Given the description of an element on the screen output the (x, y) to click on. 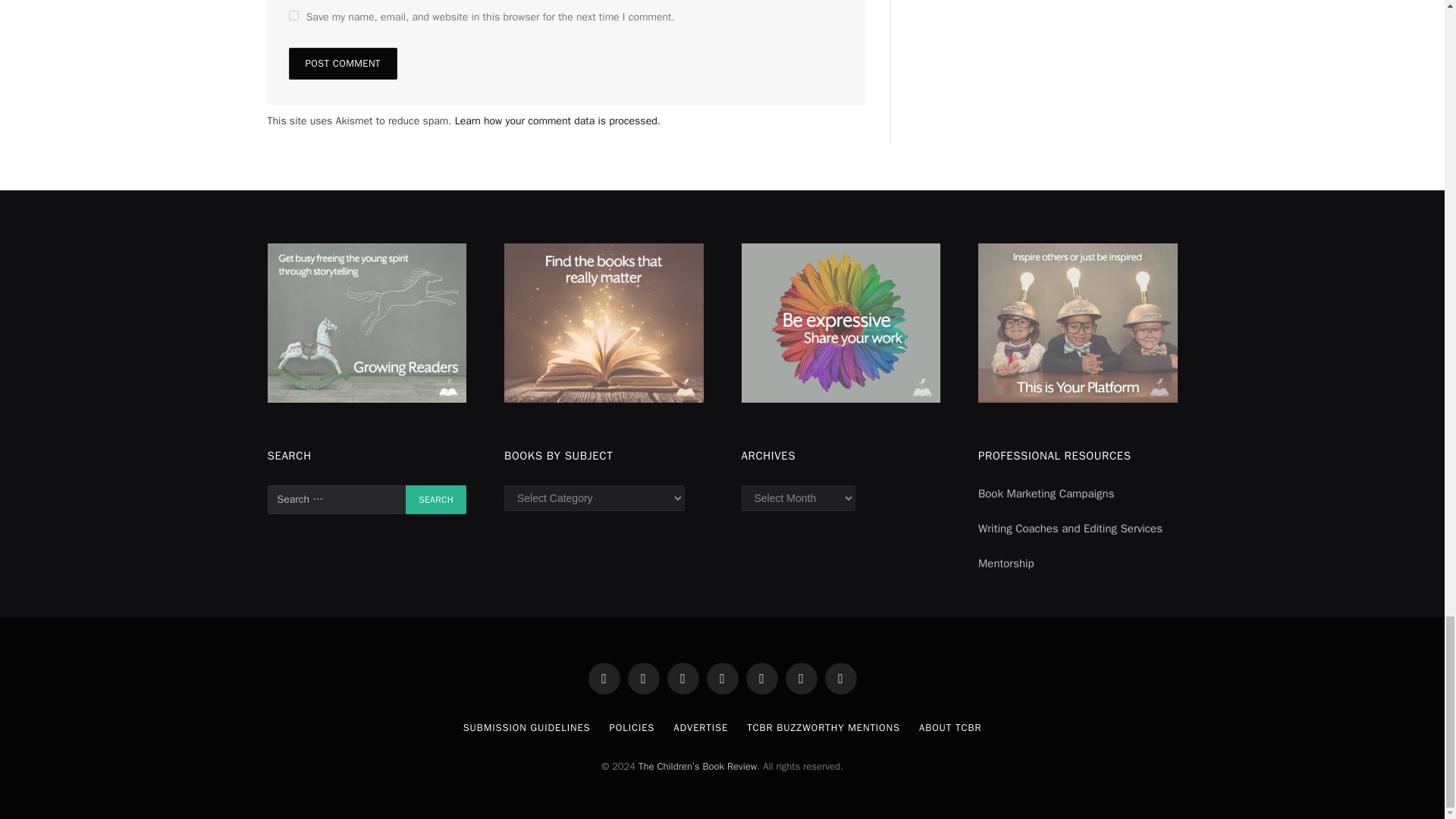
Search (435, 499)
Post Comment (342, 63)
Search (435, 499)
yes (293, 15)
